Given the description of an element on the screen output the (x, y) to click on. 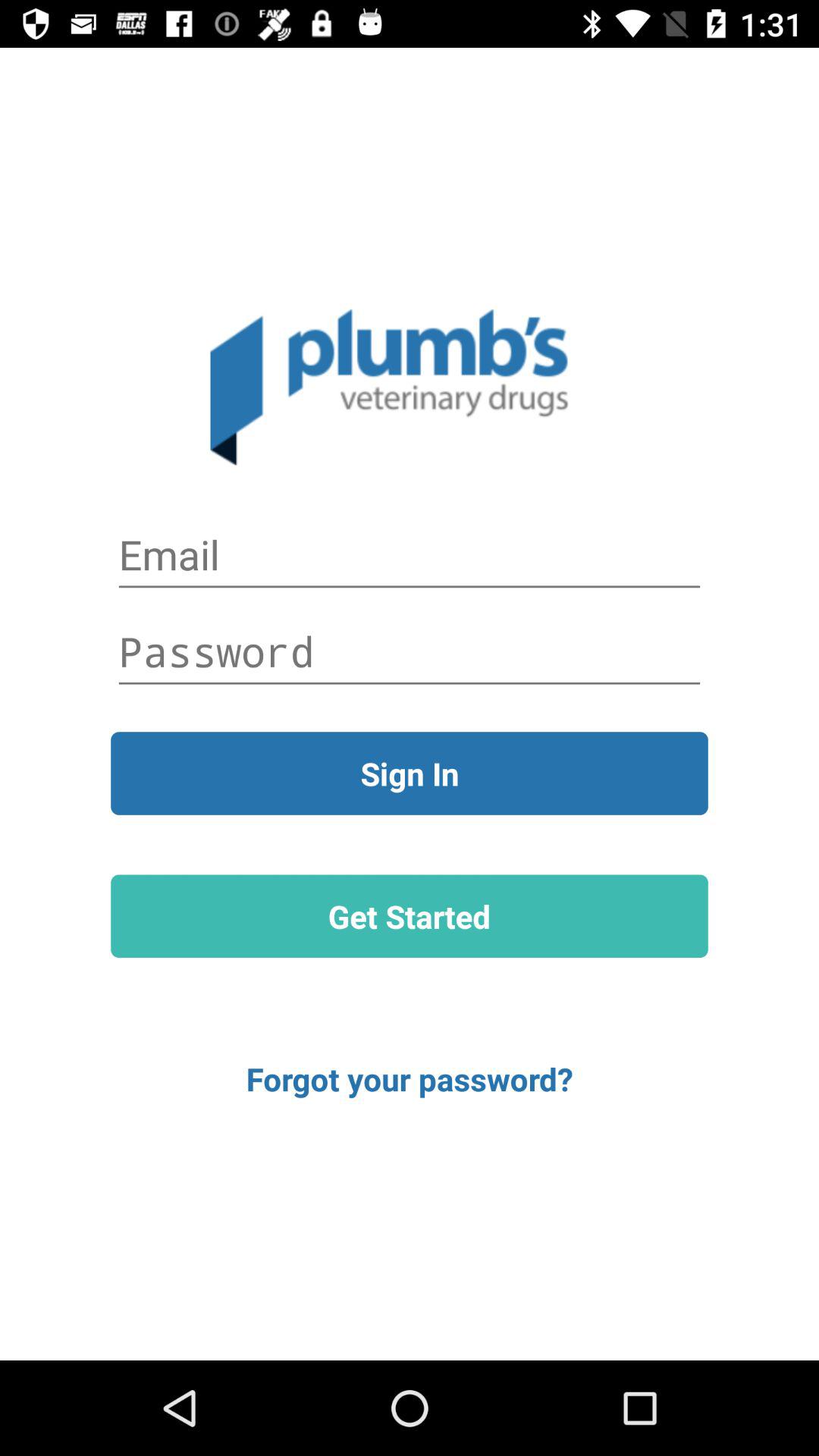
choose the sign in item (409, 773)
